Given the description of an element on the screen output the (x, y) to click on. 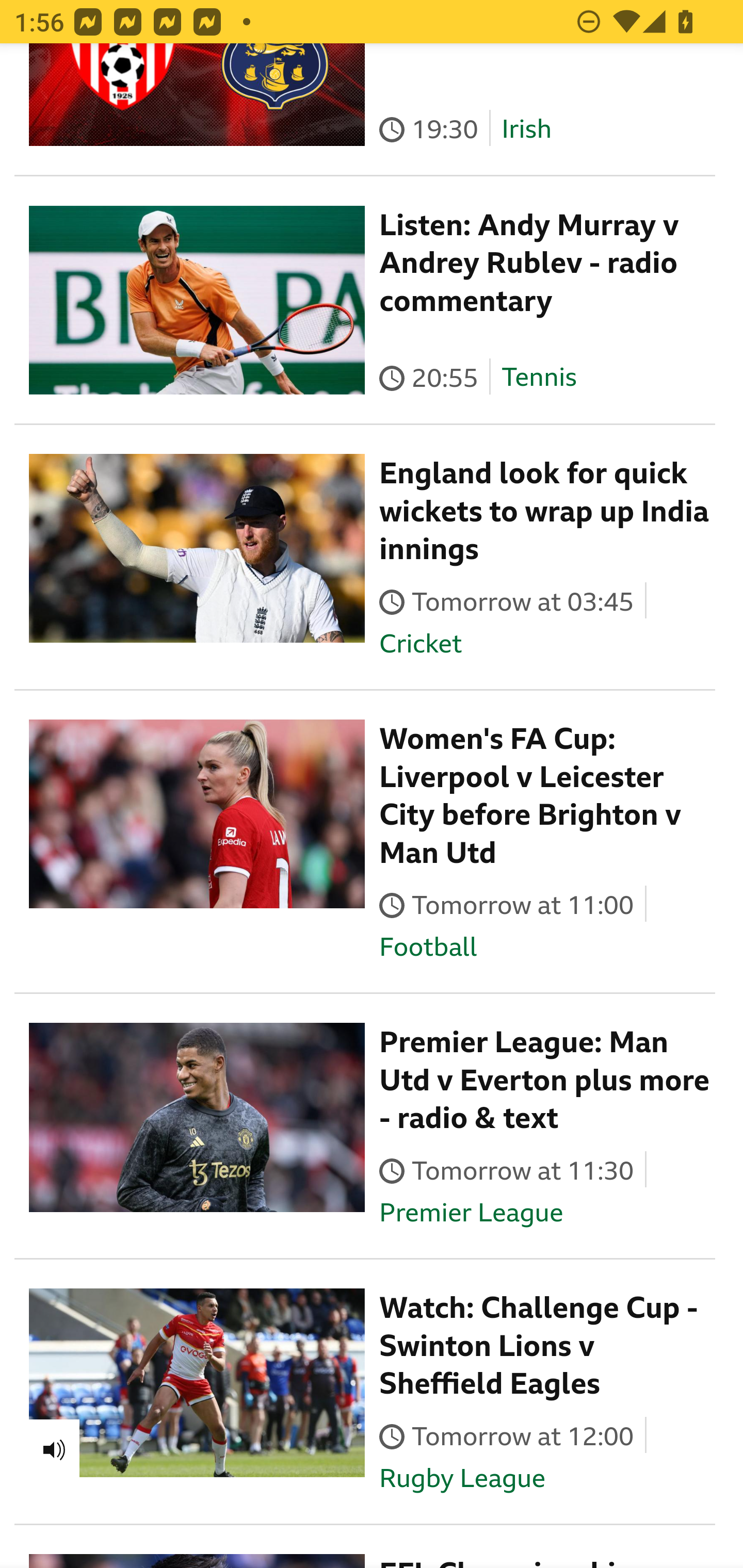
Irish (526, 128)
Tennis (539, 378)
Cricket (420, 644)
Football (428, 947)
Premier League (470, 1212)
Rugby League (462, 1479)
